Given the description of an element on the screen output the (x, y) to click on. 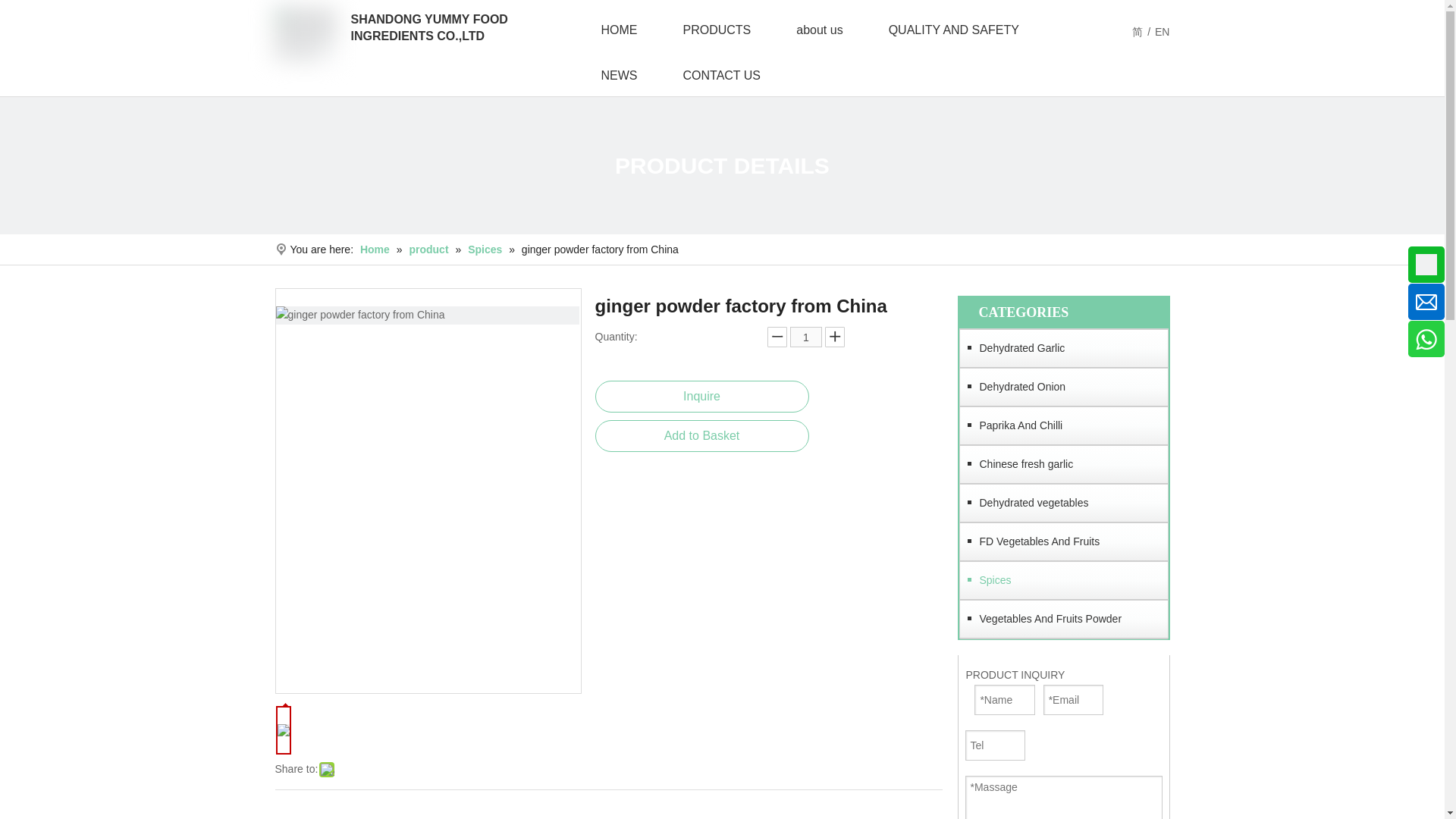
1 (806, 336)
HOME (618, 30)
Shandong Haode Food Co., Ltd. (304, 34)
PRODUCTS (716, 30)
Youtube (10, 323)
CONTACT US (721, 75)
product (430, 249)
NEWS (618, 75)
about us (818, 30)
Home (376, 249)
